Given the description of an element on the screen output the (x, y) to click on. 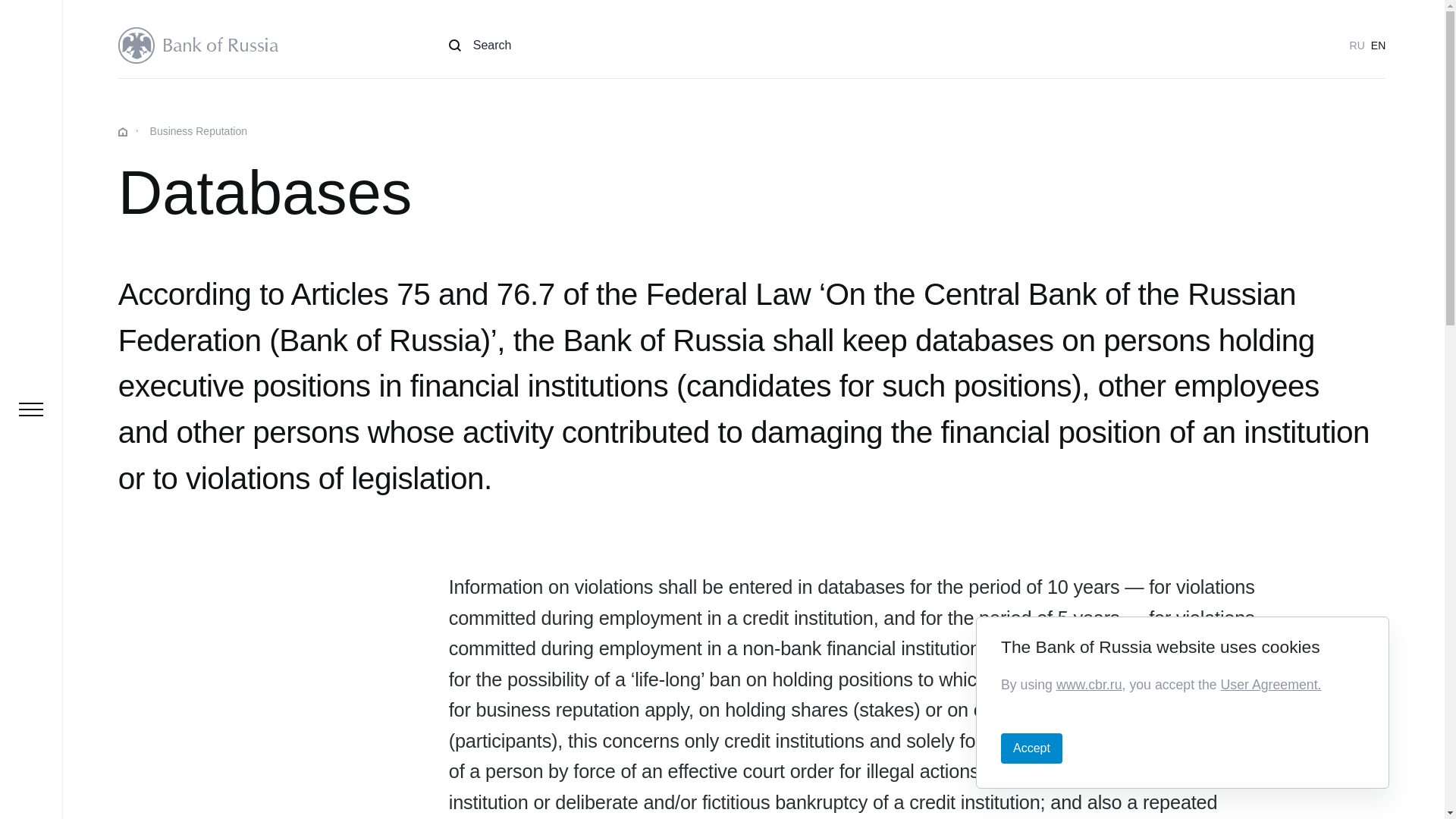
search (480, 45)
Search (480, 45)
RU (1357, 45)
